Given the description of an element on the screen output the (x, y) to click on. 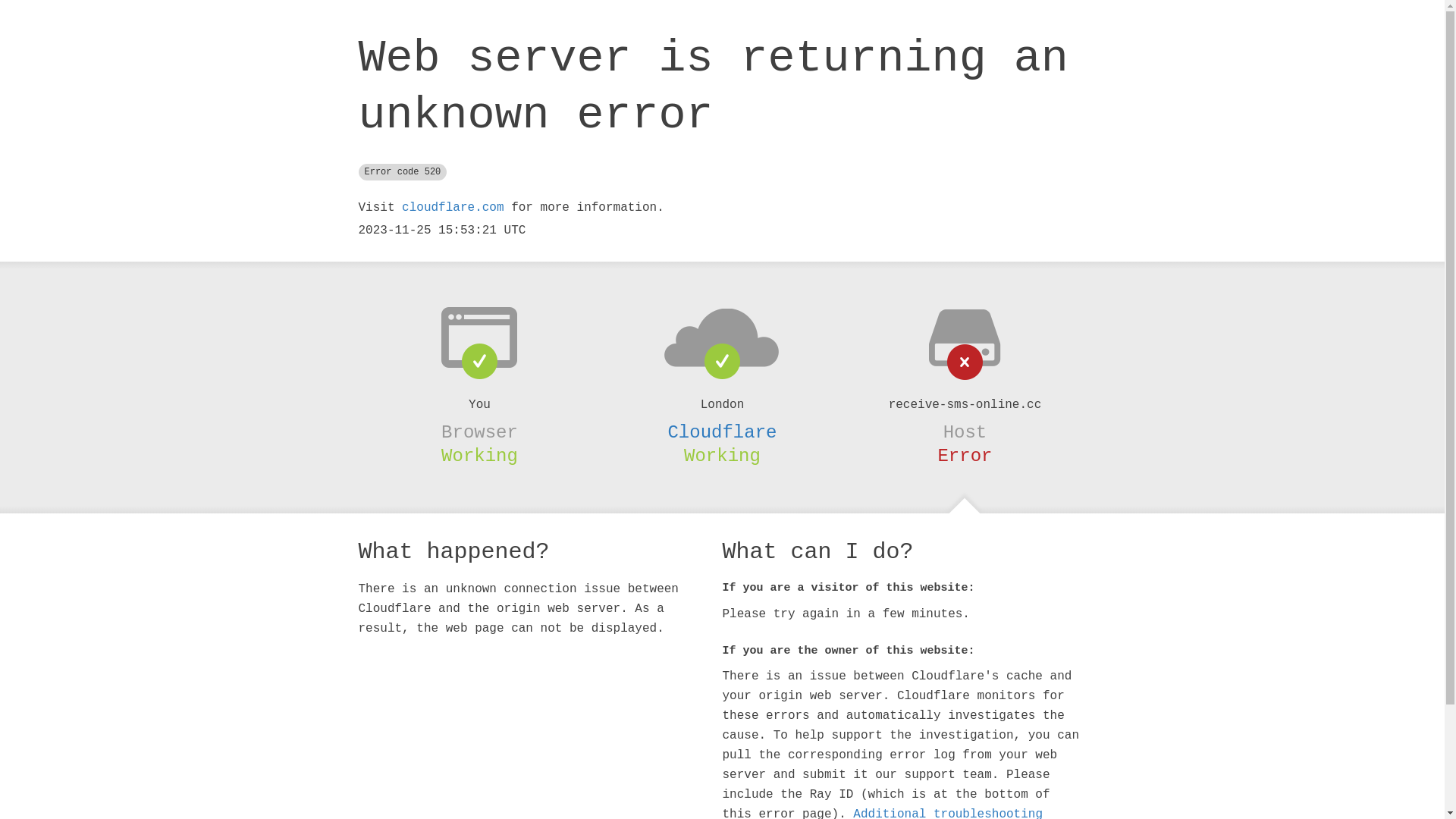
Cloudflare Element type: text (721, 432)
cloudflare.com Element type: text (452, 207)
